Given the description of an element on the screen output the (x, y) to click on. 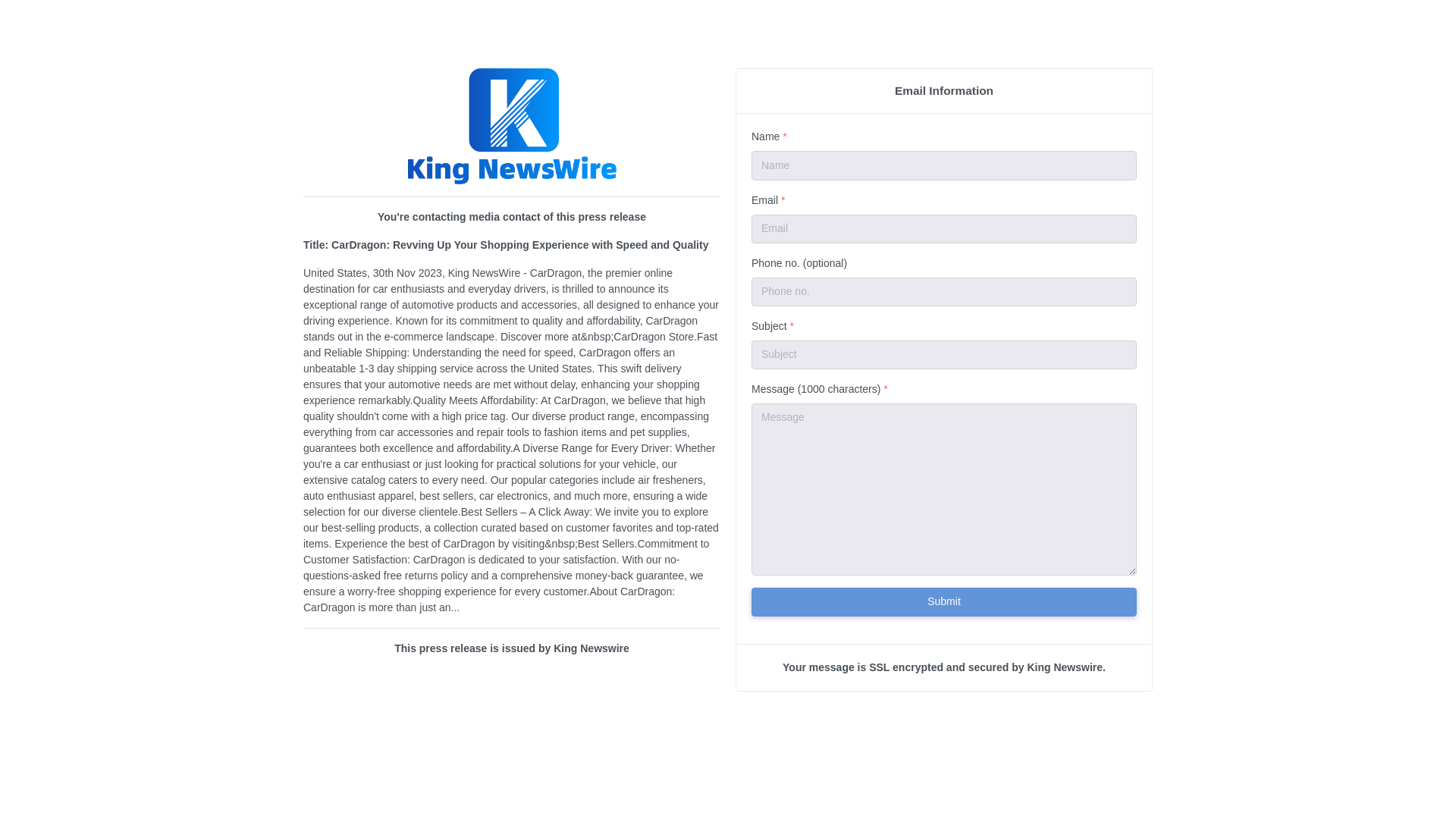
Submit (944, 602)
